Given the description of an element on the screen output the (x, y) to click on. 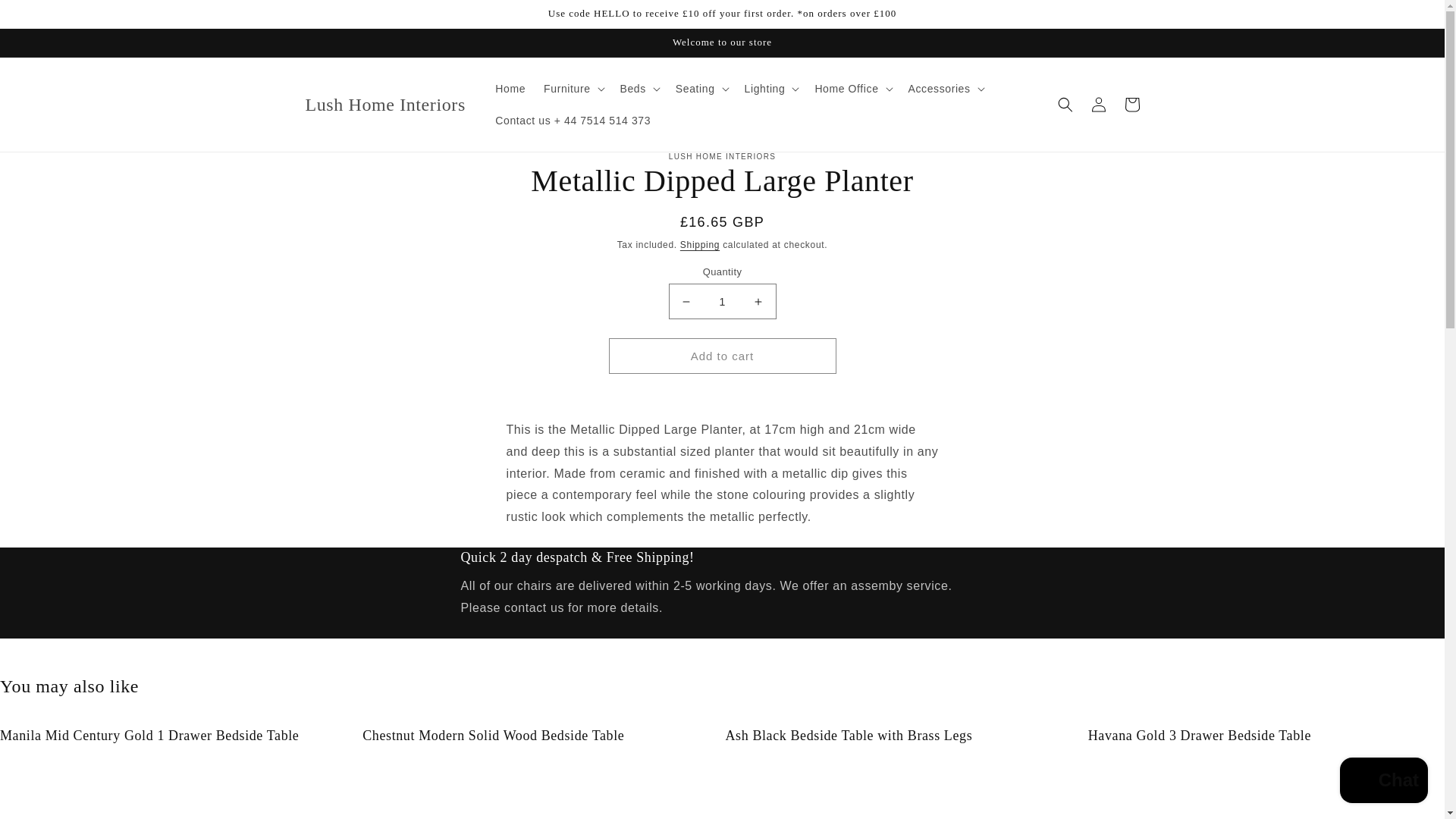
Shopify online store chat (1383, 781)
1 (722, 301)
Skip to content (45, 17)
